Given the description of an element on the screen output the (x, y) to click on. 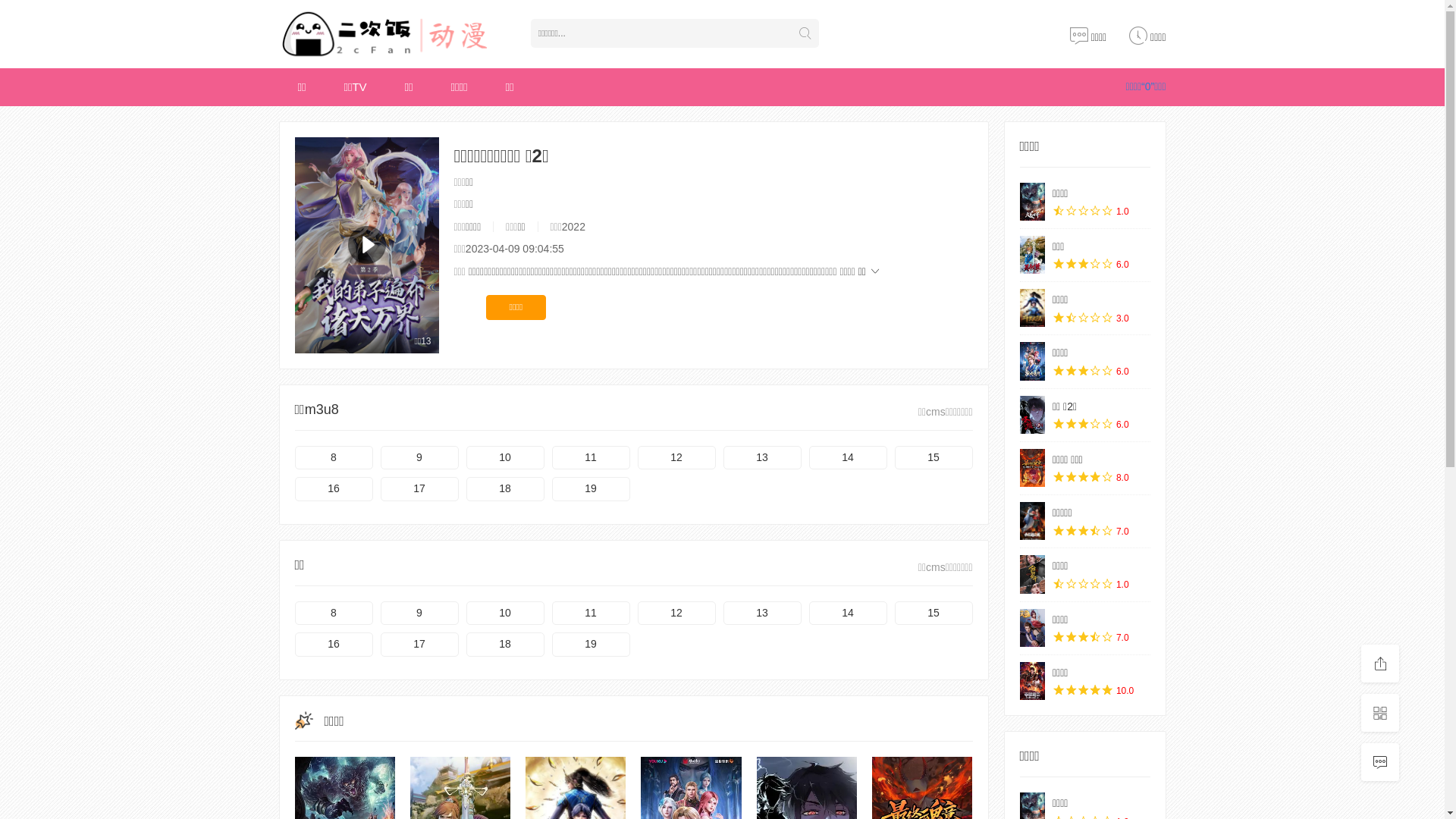
9 Element type: text (419, 613)
9 Element type: text (419, 457)
13 Element type: text (762, 457)
8 Element type: text (333, 457)
11 Element type: text (591, 613)
17 Element type: text (419, 644)
8 Element type: text (333, 613)
15 Element type: text (933, 613)
17 Element type: text (419, 488)
10 Element type: text (504, 457)
19 Element type: text (591, 488)
10 Element type: text (504, 613)
12 Element type: text (676, 613)
16 Element type: text (333, 644)
12 Element type: text (676, 457)
13 Element type: text (762, 613)
19 Element type: text (591, 644)
14 Element type: text (847, 613)
18 Element type: text (504, 488)
15 Element type: text (933, 457)
14 Element type: text (847, 457)
18 Element type: text (504, 644)
11 Element type: text (591, 457)
16 Element type: text (333, 488)
